Given the description of an element on the screen output the (x, y) to click on. 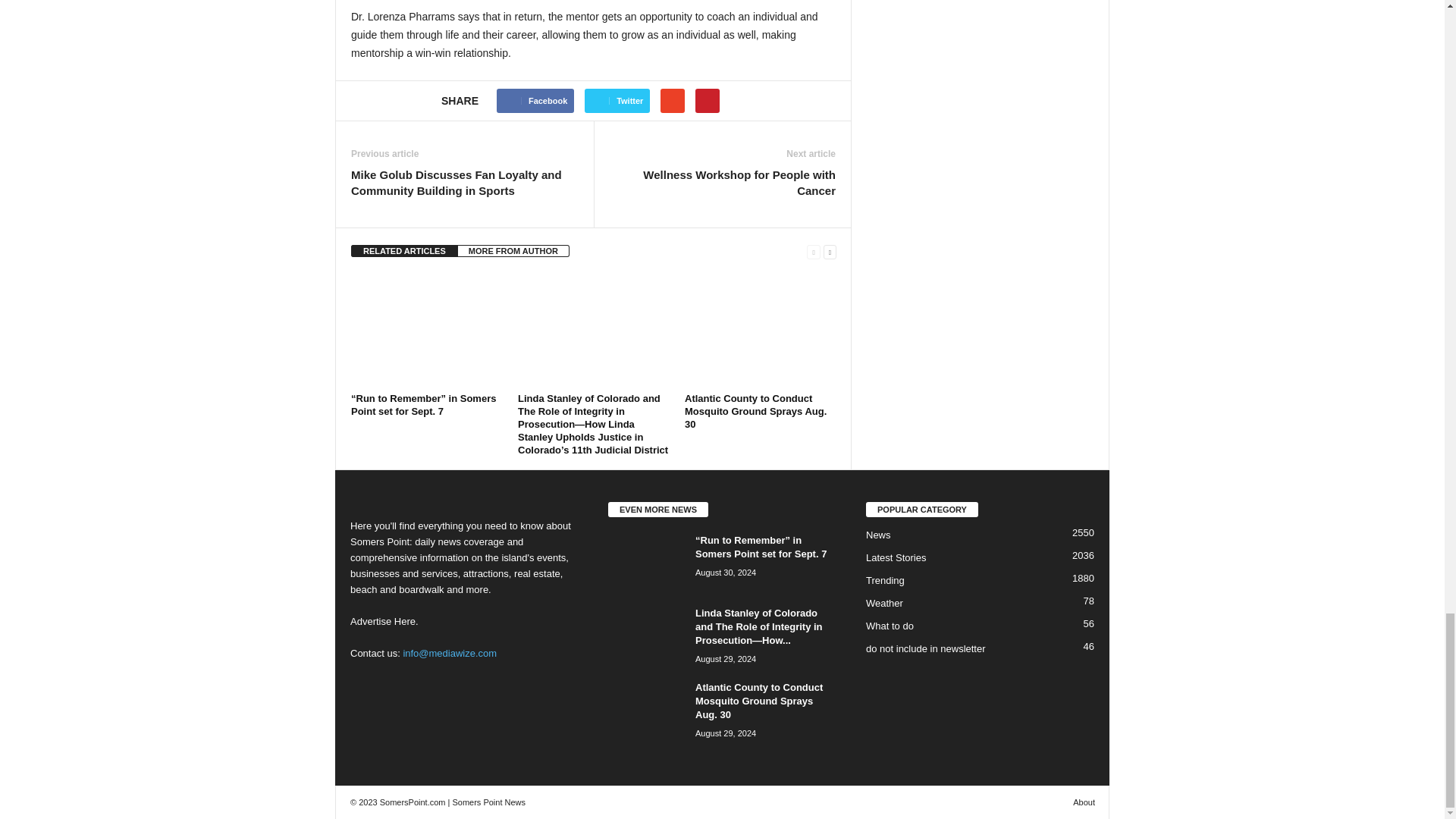
Facebook (534, 100)
Atlantic County to Conduct Mosquito Ground Sprays Aug. 30 (755, 411)
Atlantic County to Conduct Mosquito Ground Sprays Aug. 30 (759, 330)
Twitter (617, 100)
